Given the description of an element on the screen output the (x, y) to click on. 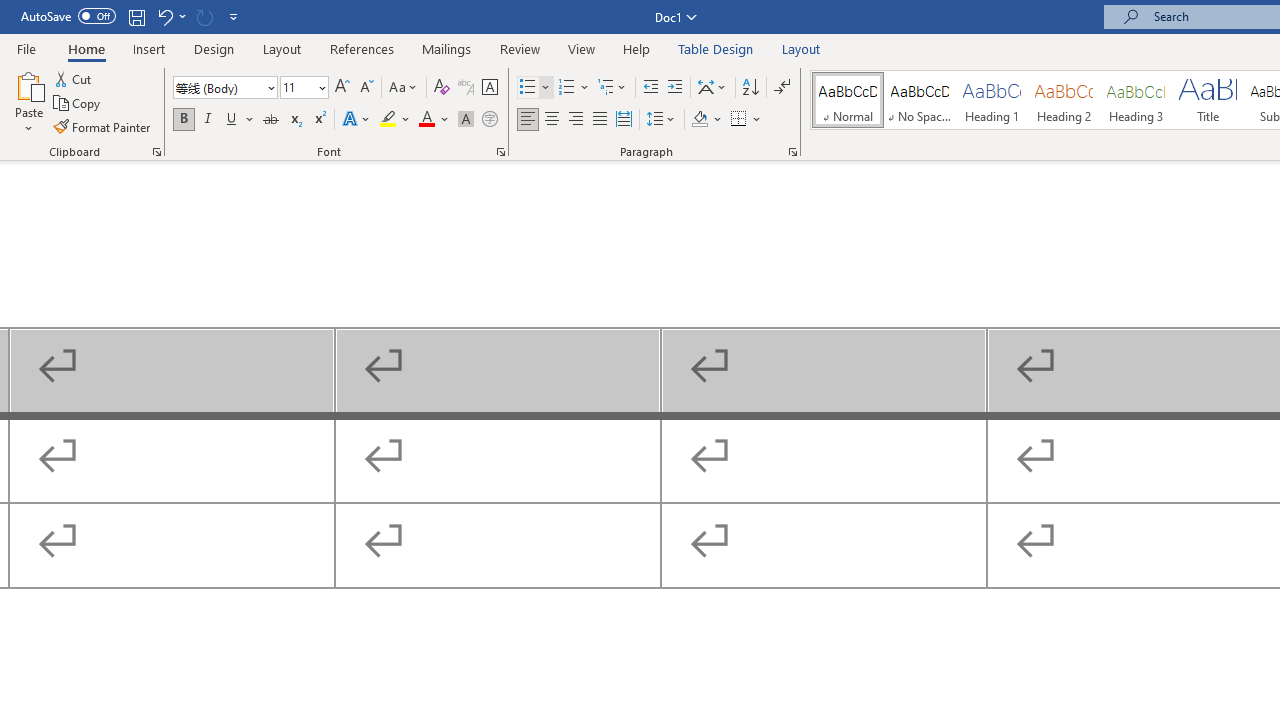
Heading 3 (1135, 100)
